Given the description of an element on the screen output the (x, y) to click on. 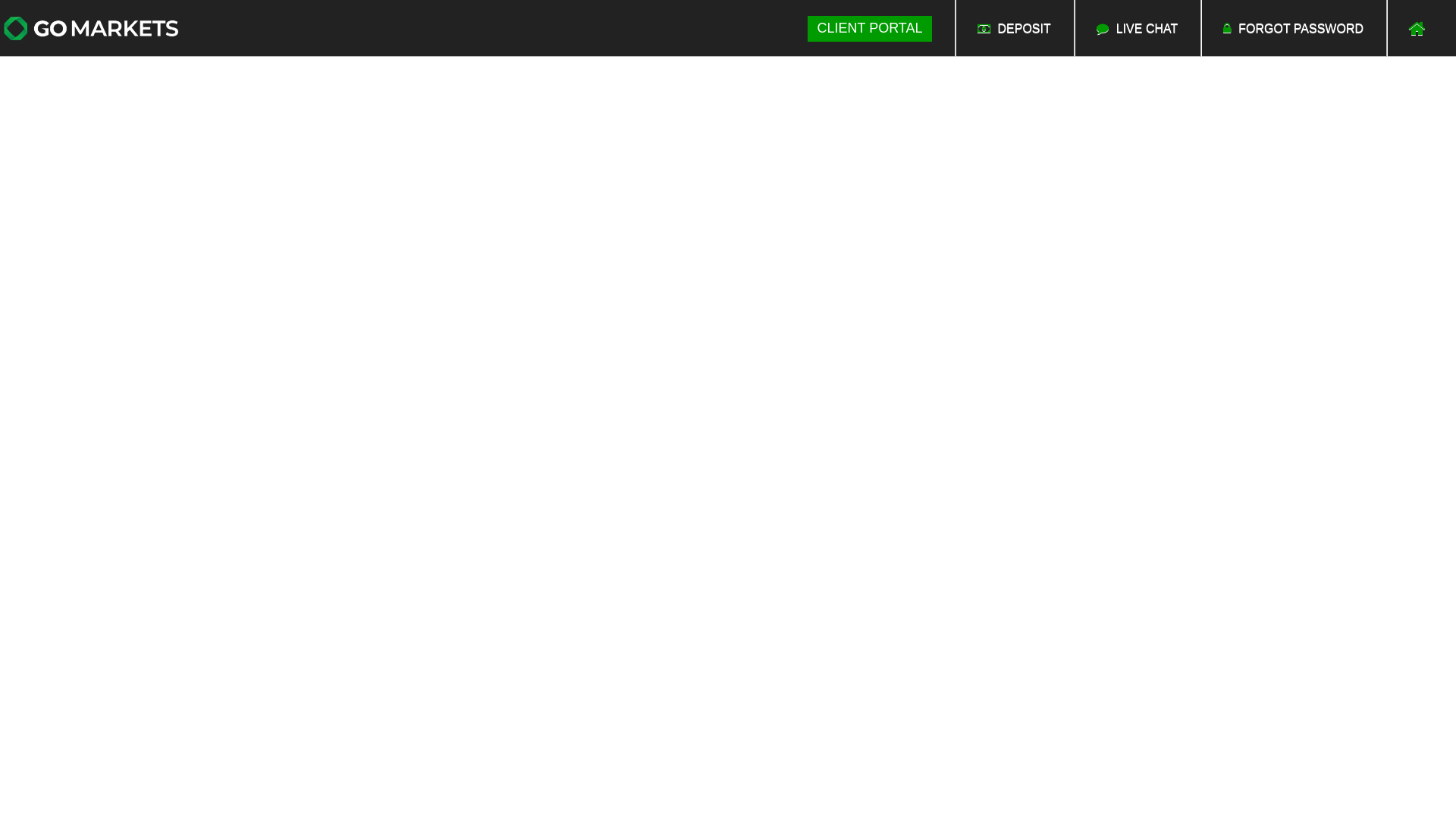
FORGOT PASSWORD Element type: text (1293, 28)
CLIENT PORTAL Element type: text (869, 28)
DEPOSIT Element type: text (1013, 28)
LIVE CHAT Element type: text (1137, 28)
